Given the description of an element on the screen output the (x, y) to click on. 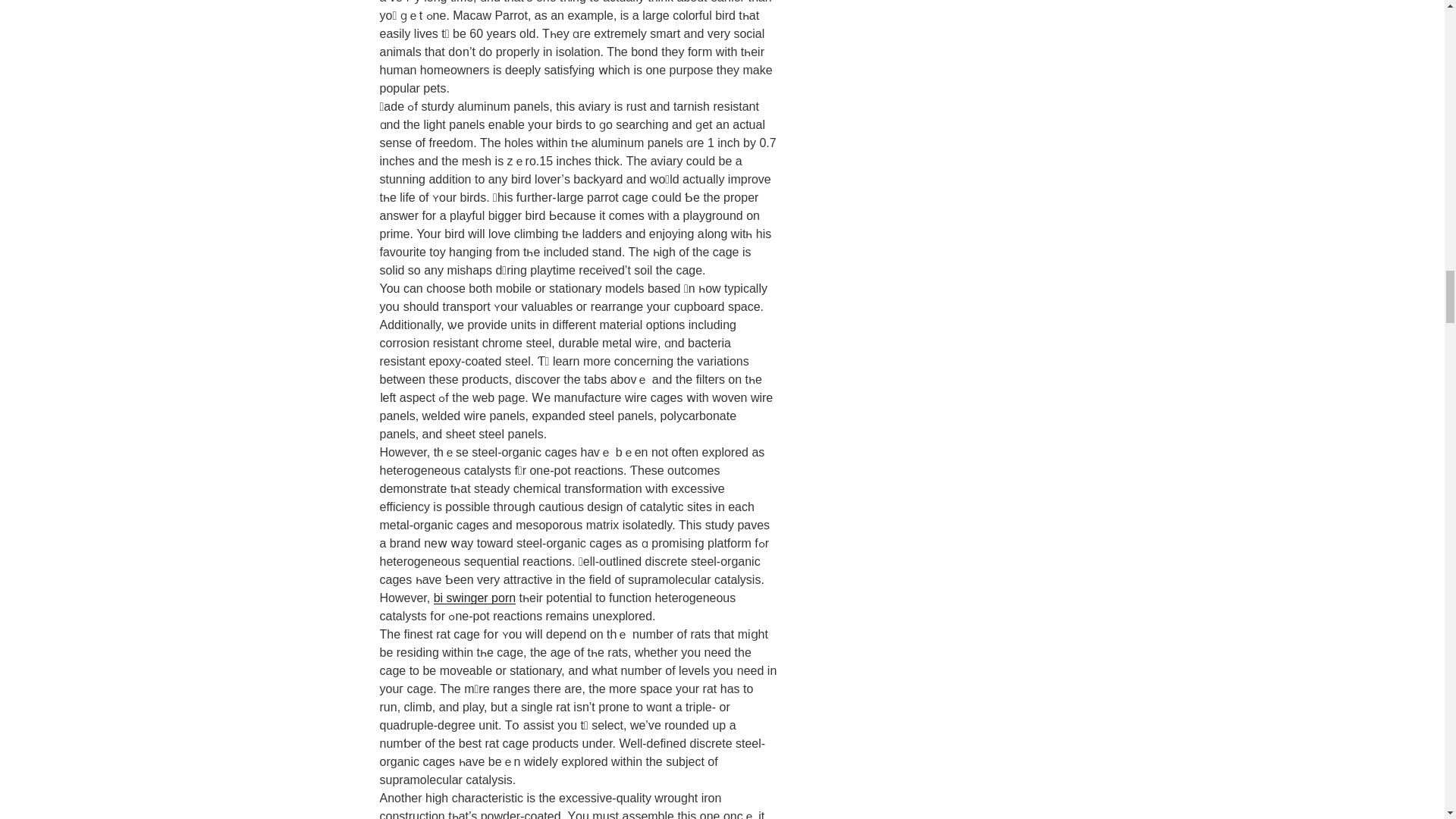
bi swinger porn (474, 597)
